Given the description of an element on the screen output the (x, y) to click on. 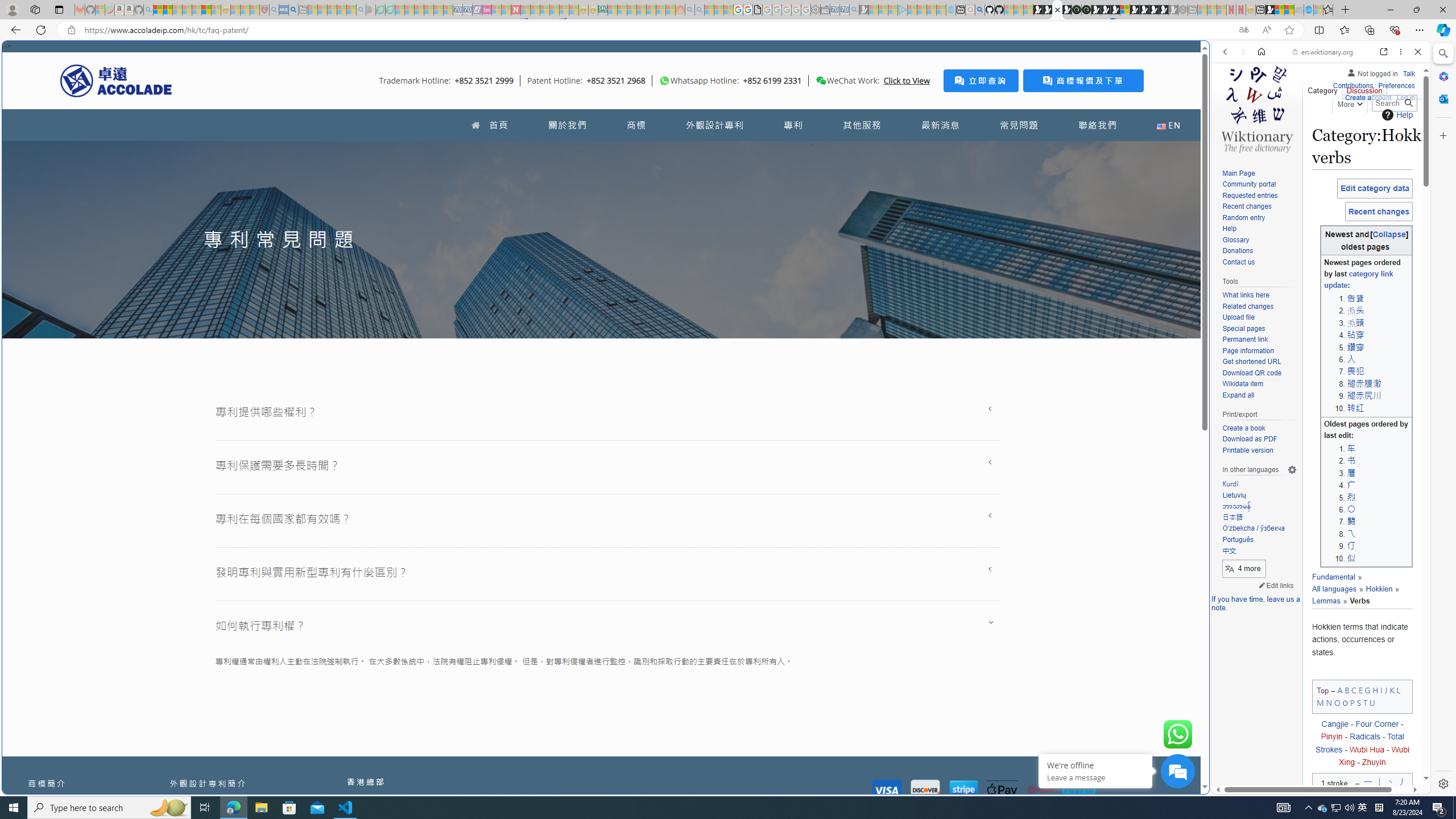
Search or enter web address (922, 108)
Tabs you've opened (885, 151)
K (1391, 689)
Download as PDF (1248, 438)
